Given the description of an element on the screen output the (x, y) to click on. 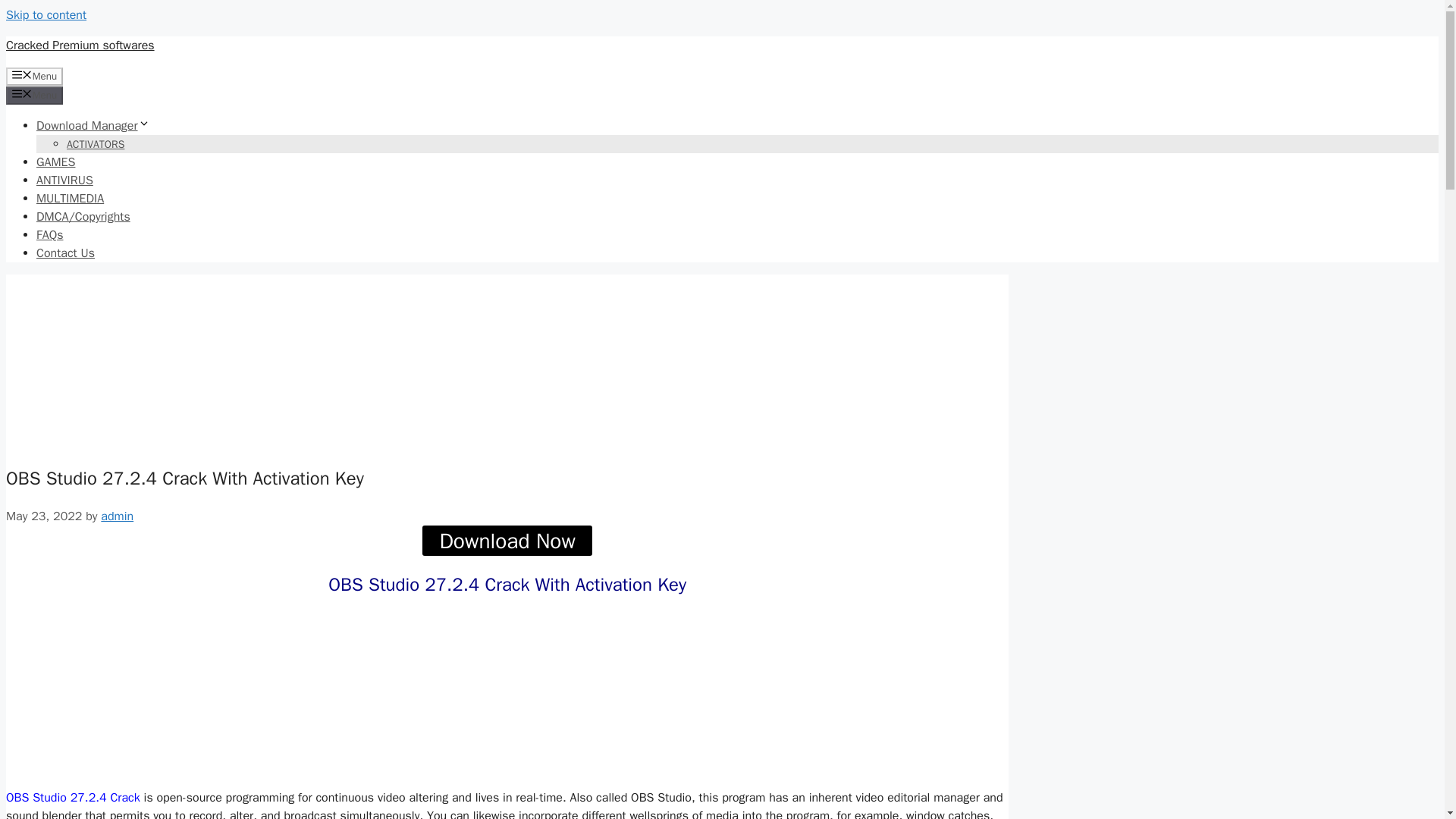
Download Manager (92, 125)
Menu (33, 76)
ANTIVIRUS (64, 180)
Cracked Premium softwares (79, 45)
MULTIMEDIA (69, 198)
Skip to content (45, 14)
OBS Studio Crack  (84, 692)
ACTIVATORS (94, 144)
Download Now (506, 540)
GAMES (55, 161)
